Given the description of an element on the screen output the (x, y) to click on. 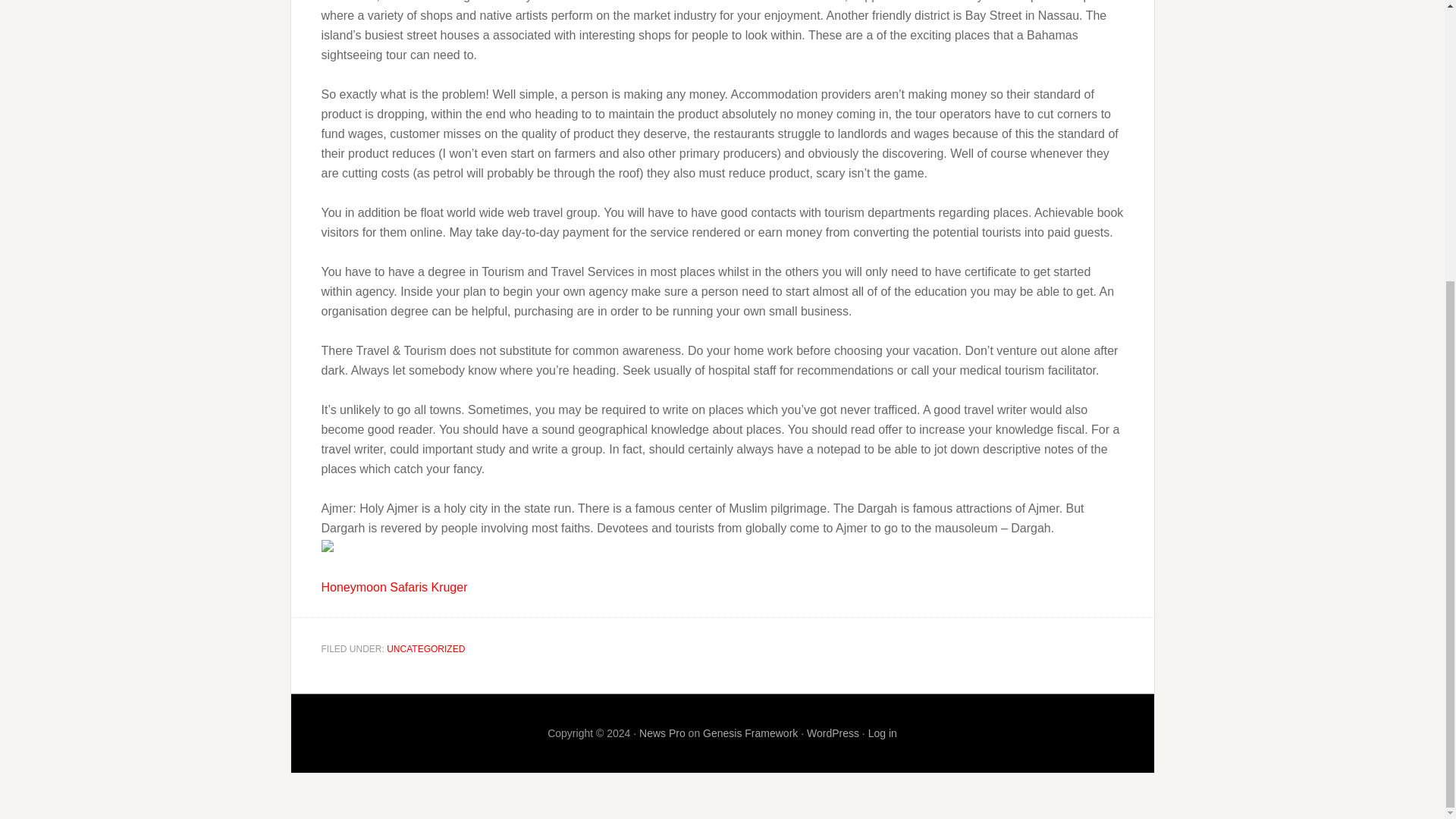
Genesis Framework (750, 733)
News Pro (662, 733)
Log in (881, 733)
WordPress (832, 733)
UNCATEGORIZED (425, 647)
Honeymoon Safaris Kruger (394, 586)
